Given the description of an element on the screen output the (x, y) to click on. 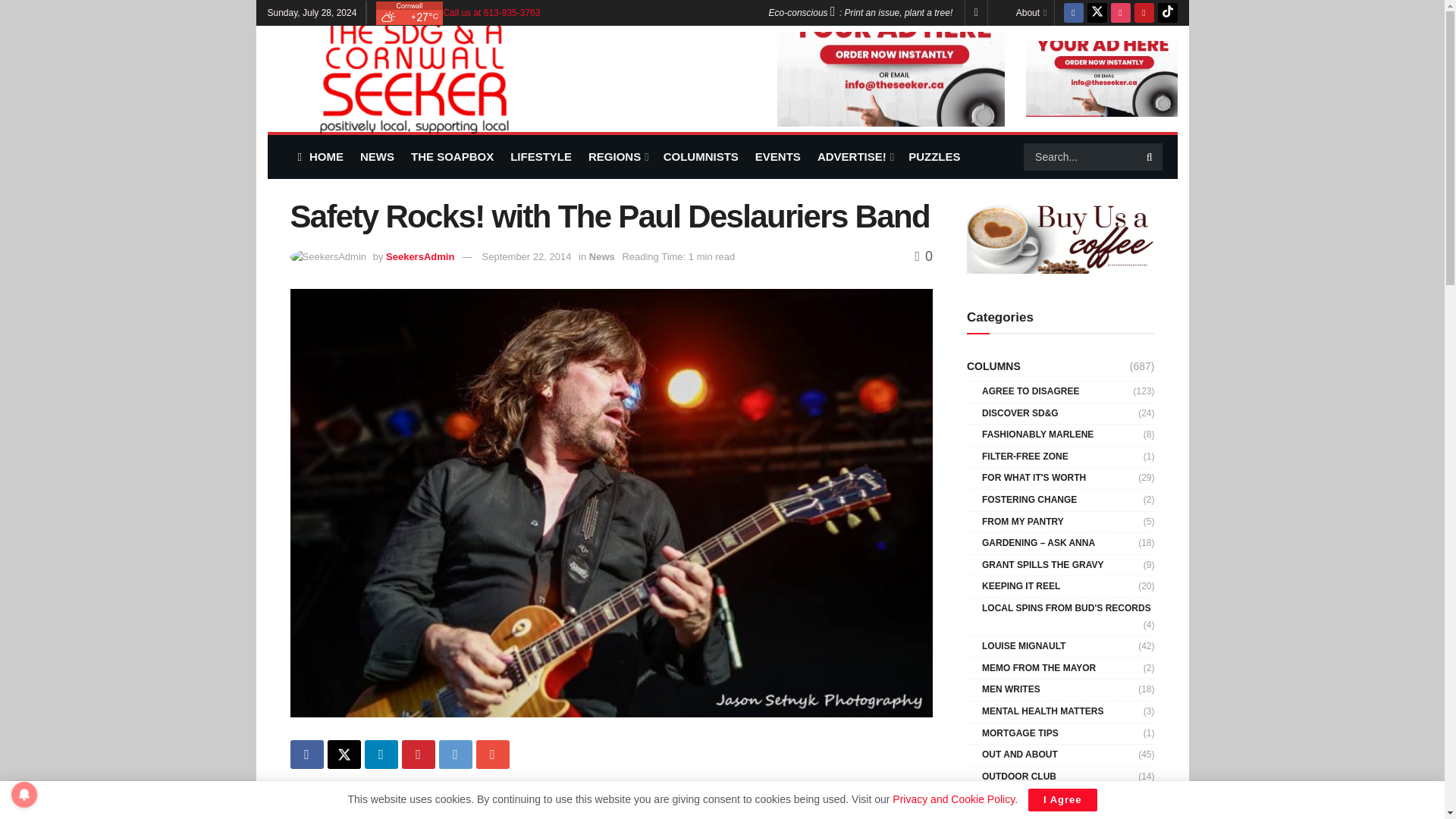
COLUMNISTS (700, 156)
THE SOAPBOX (451, 156)
HOME (319, 156)
REGIONS (617, 156)
LIFESTYLE (541, 156)
EVENTS (777, 156)
About (1030, 12)
ADVERTISE! (853, 156)
NEWS (376, 156)
Call us at 613-935-3763 (491, 12)
PUZZLES (933, 156)
